Given the description of an element on the screen output the (x, y) to click on. 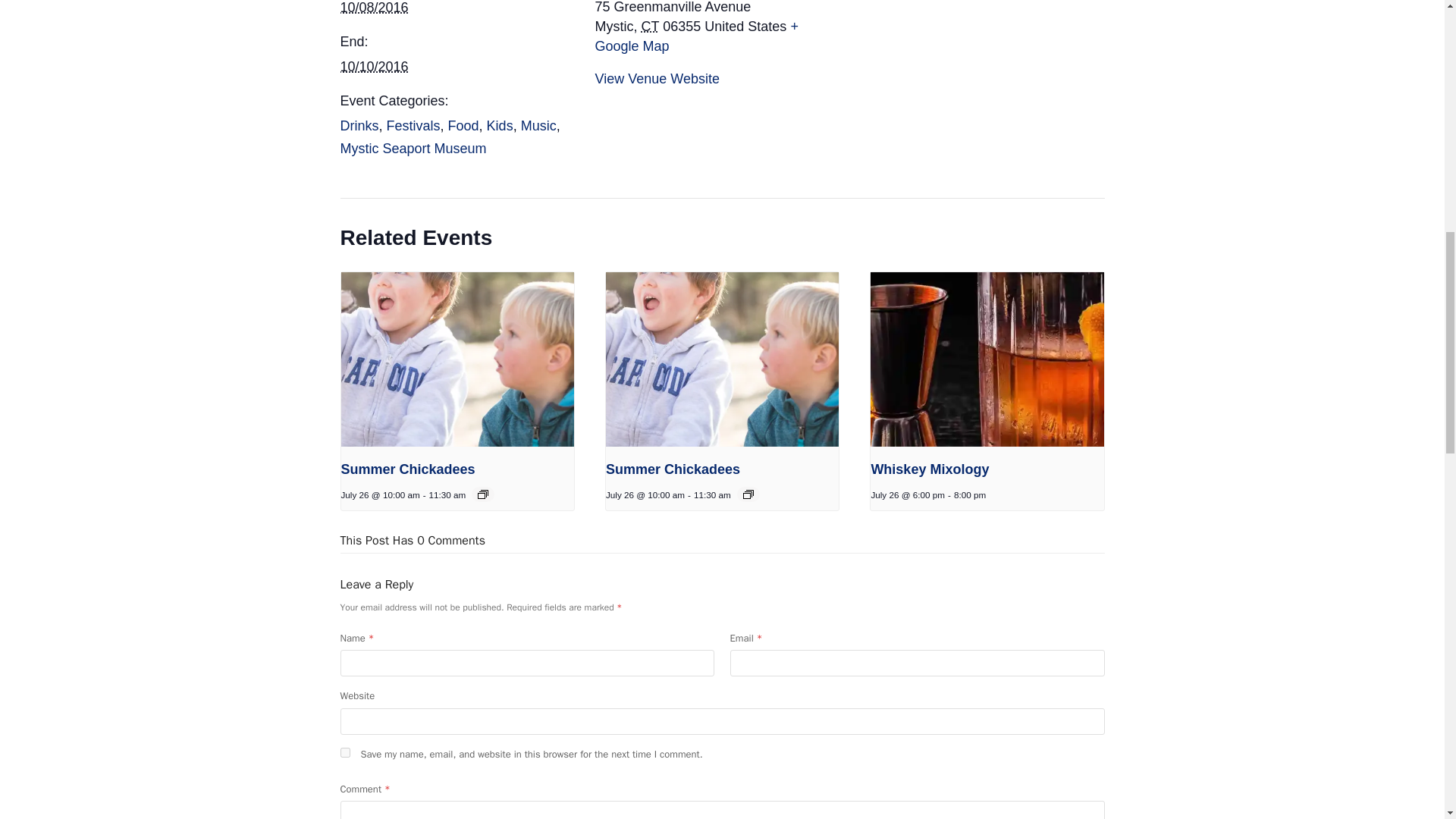
yes (344, 752)
Click to view a Google Map (695, 36)
2016-10-08 (373, 7)
Event Series (748, 493)
2016-10-10 (373, 66)
Event Series (482, 493)
Connecticut (650, 26)
